Given the description of an element on the screen output the (x, y) to click on. 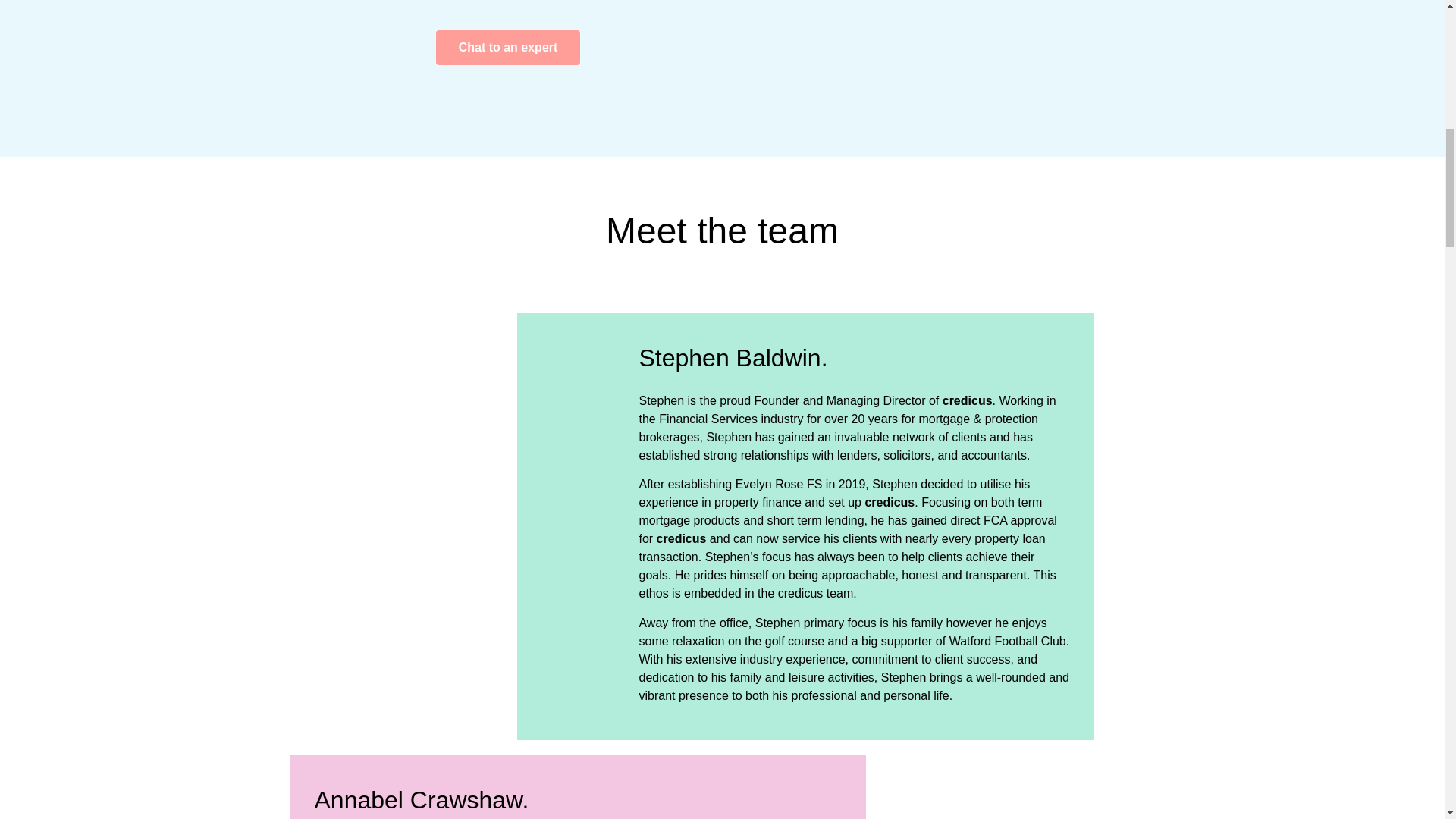
Chat to an expert (507, 47)
